Given the description of an element on the screen output the (x, y) to click on. 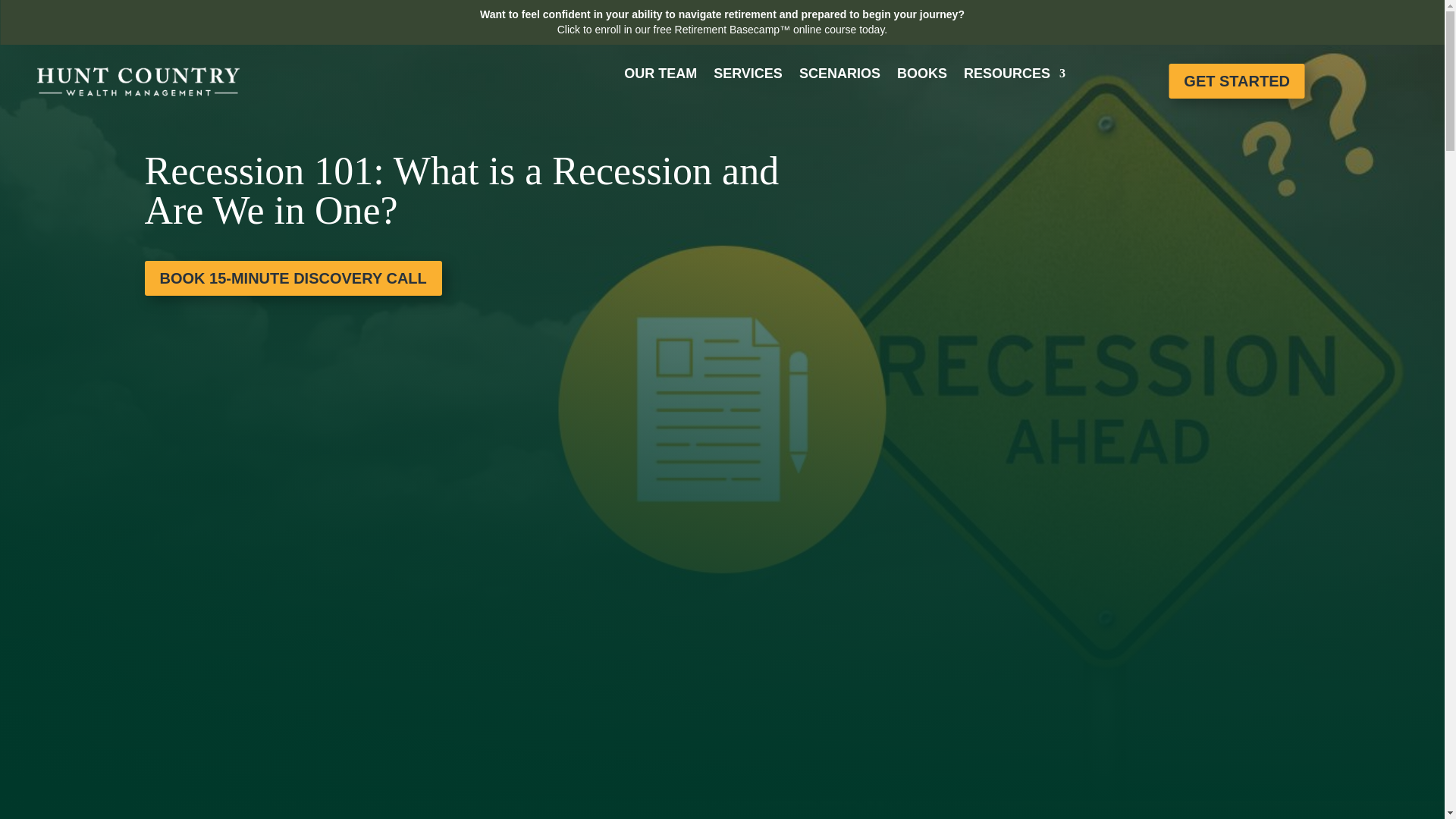
SERVICES (748, 73)
SCENARIOS (839, 73)
OUR TEAM (660, 73)
GET STARTED (1236, 80)
BOOK 15-MINUTE DISCOVERY CALL (292, 278)
RESOURCES (1014, 73)
